Given the description of an element on the screen output the (x, y) to click on. 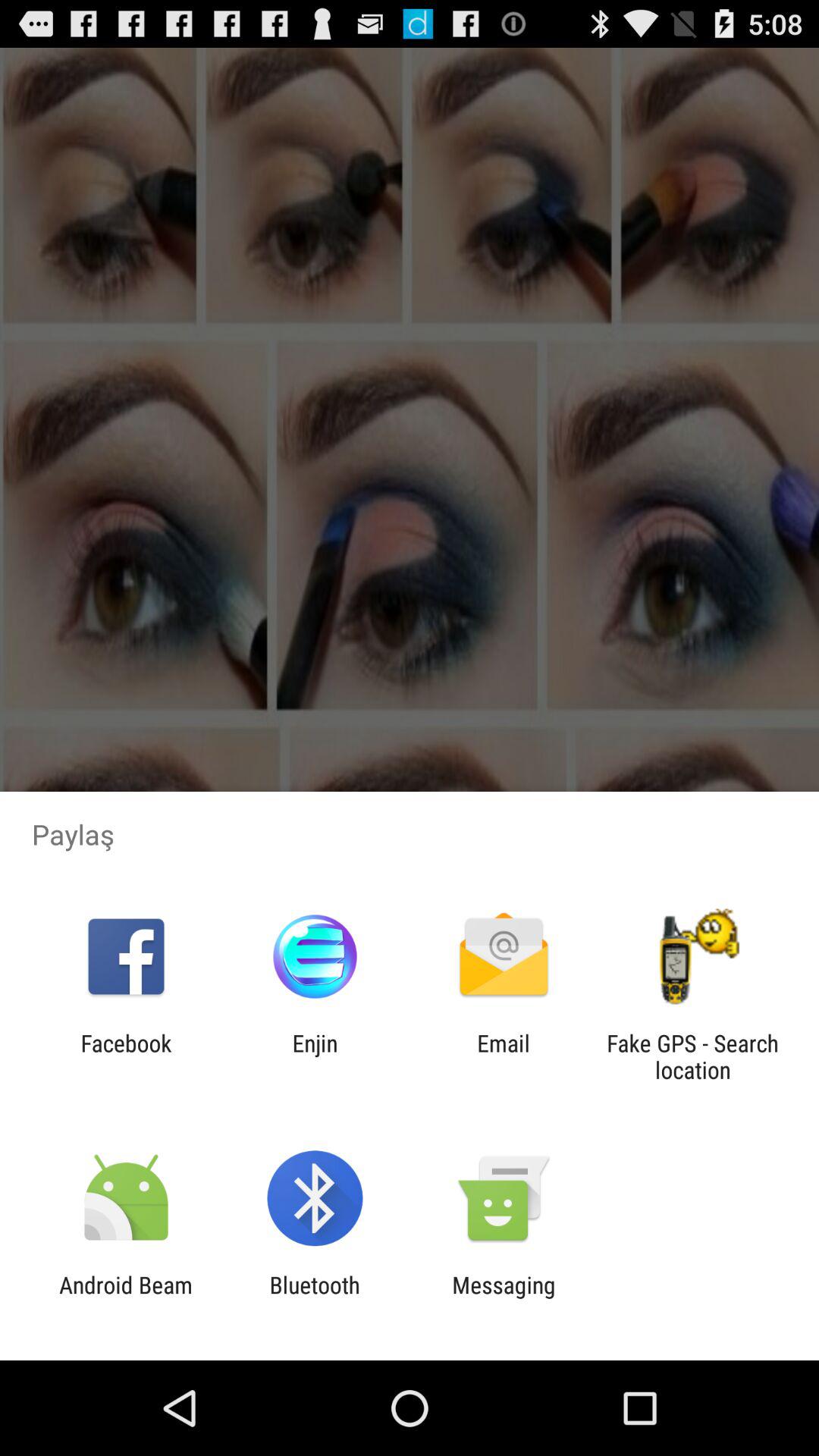
turn off the icon next to the bluetooth (503, 1298)
